Given the description of an element on the screen output the (x, y) to click on. 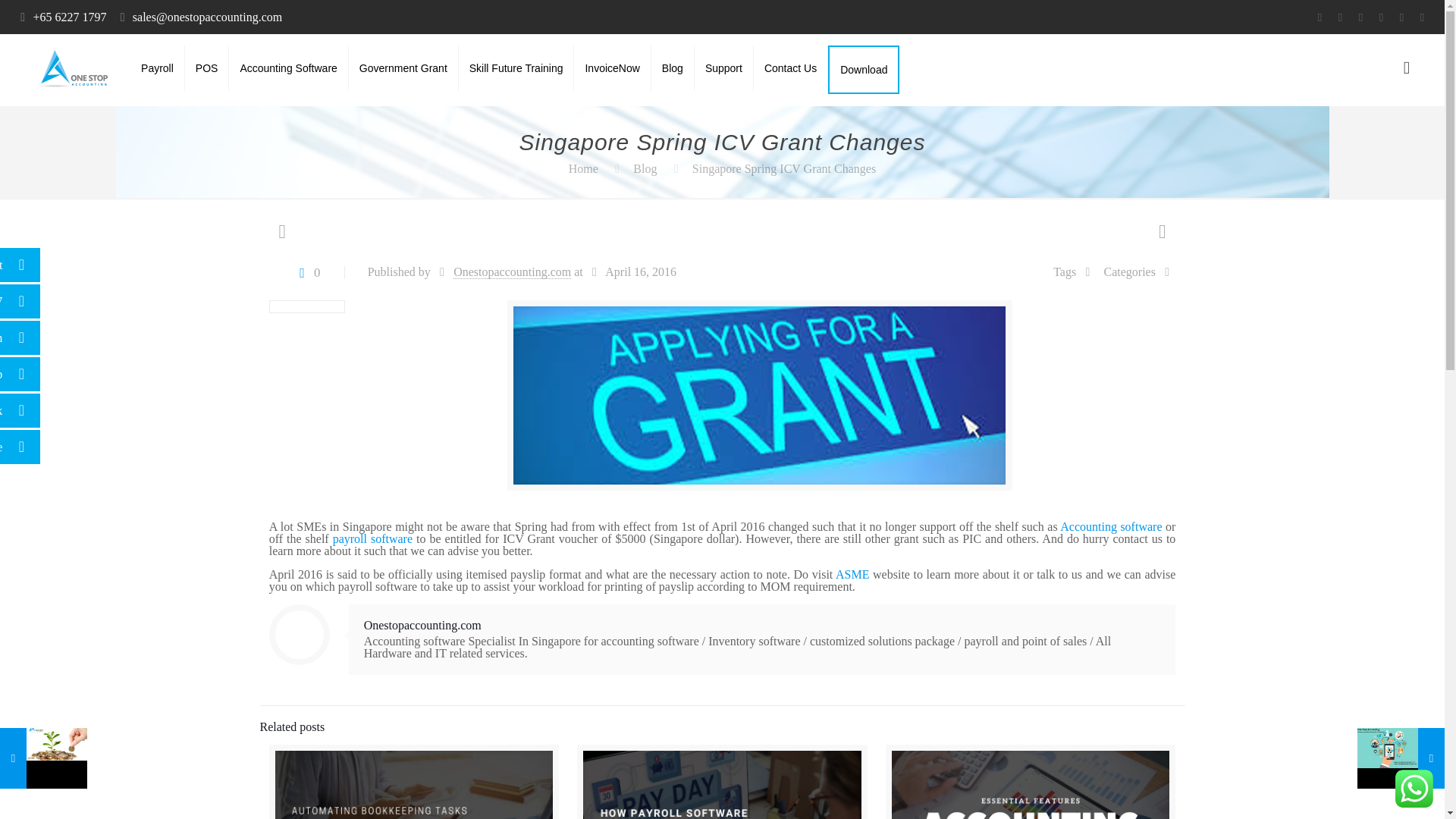
One Stop Accounting (68, 68)
Instagram (1401, 17)
Pinterest (1381, 17)
Skill Future Training (516, 68)
Blog (644, 168)
Onestopaccounting.com (511, 272)
Contact Us (791, 68)
InvoiceNow (611, 68)
YouTube (1360, 17)
